Given the description of an element on the screen output the (x, y) to click on. 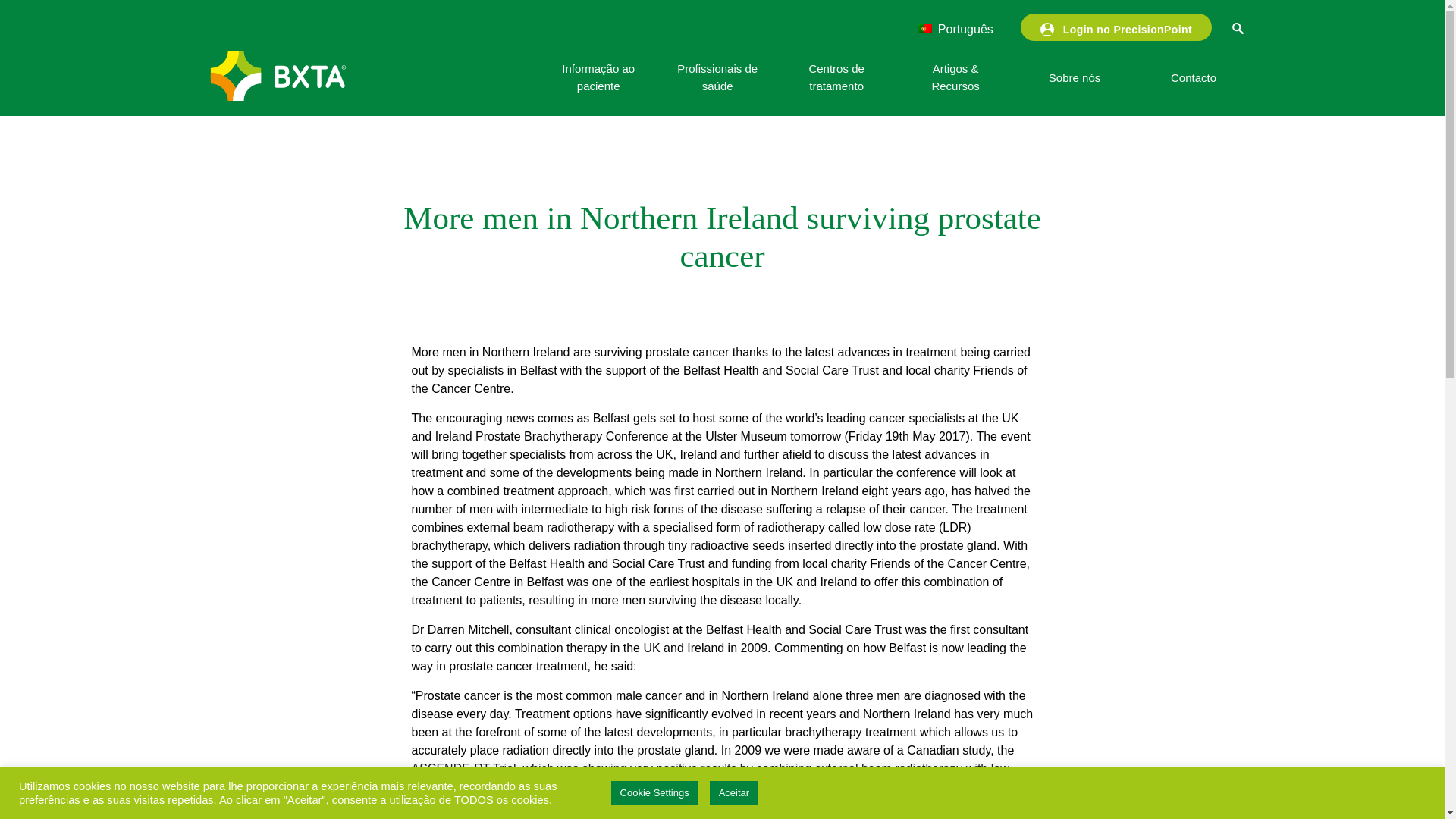
Login no PrecisionPoint (1115, 26)
Login no PrecisionPoint (1115, 26)
Centros de tratamento (835, 77)
Contacto (1192, 77)
